Given the description of an element on the screen output the (x, y) to click on. 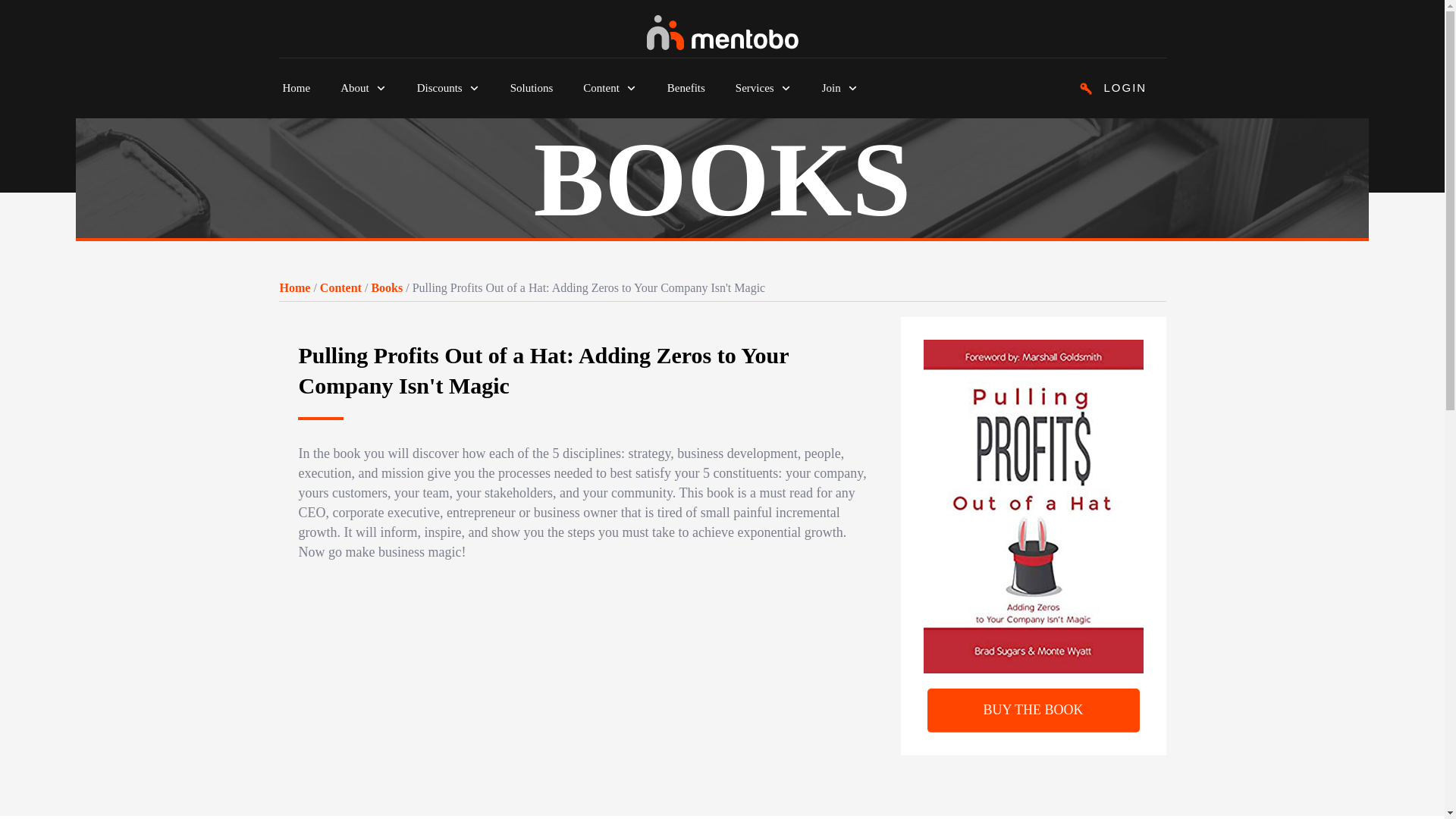
Solutions (532, 87)
BUY THE BOOK (1032, 710)
Services (763, 87)
Benefits (685, 87)
Home (294, 287)
Content (340, 287)
LOGIN (1112, 87)
Content (610, 87)
Books (387, 287)
About (363, 87)
